Given the description of an element on the screen output the (x, y) to click on. 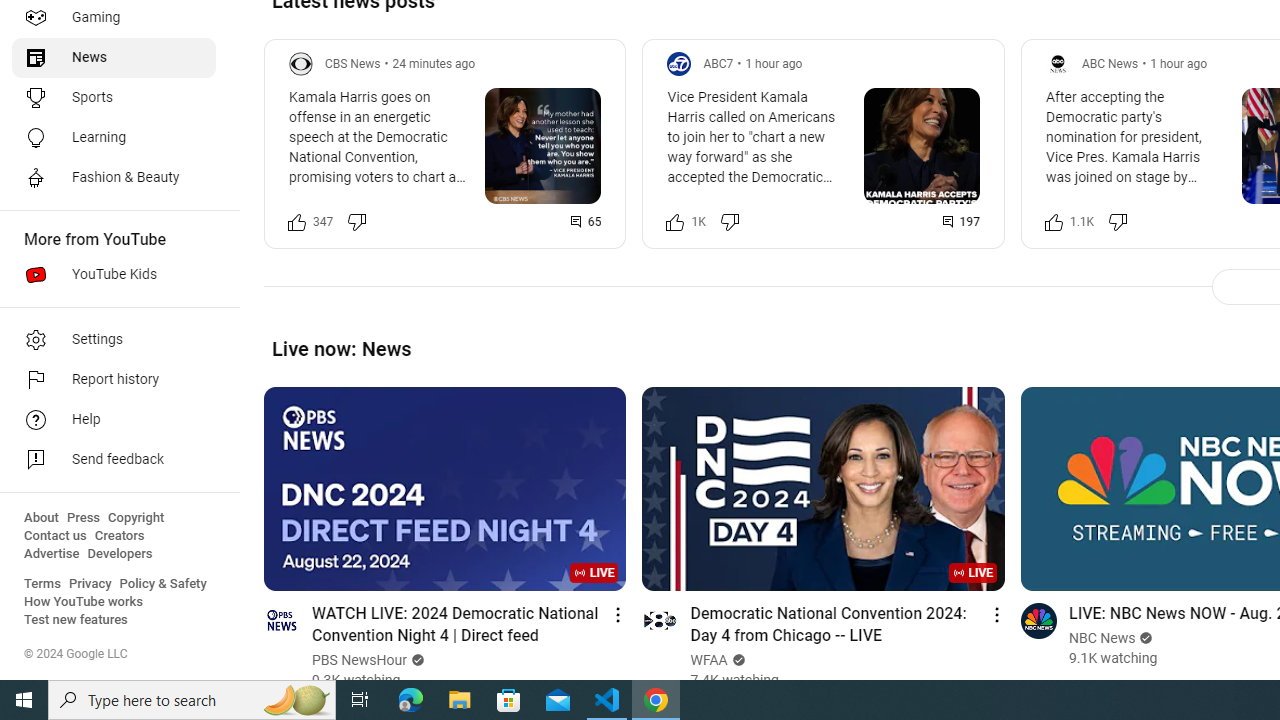
Like this post along with 1,140 other people (1053, 221)
Go to channel (1038, 620)
Report history (113, 380)
Action menu (996, 614)
Fashion & Beauty (113, 177)
Settings (113, 339)
About (41, 518)
PBS NewsHour (360, 660)
YouTube Kids (113, 274)
NBC News (1101, 637)
